Given the description of an element on the screen output the (x, y) to click on. 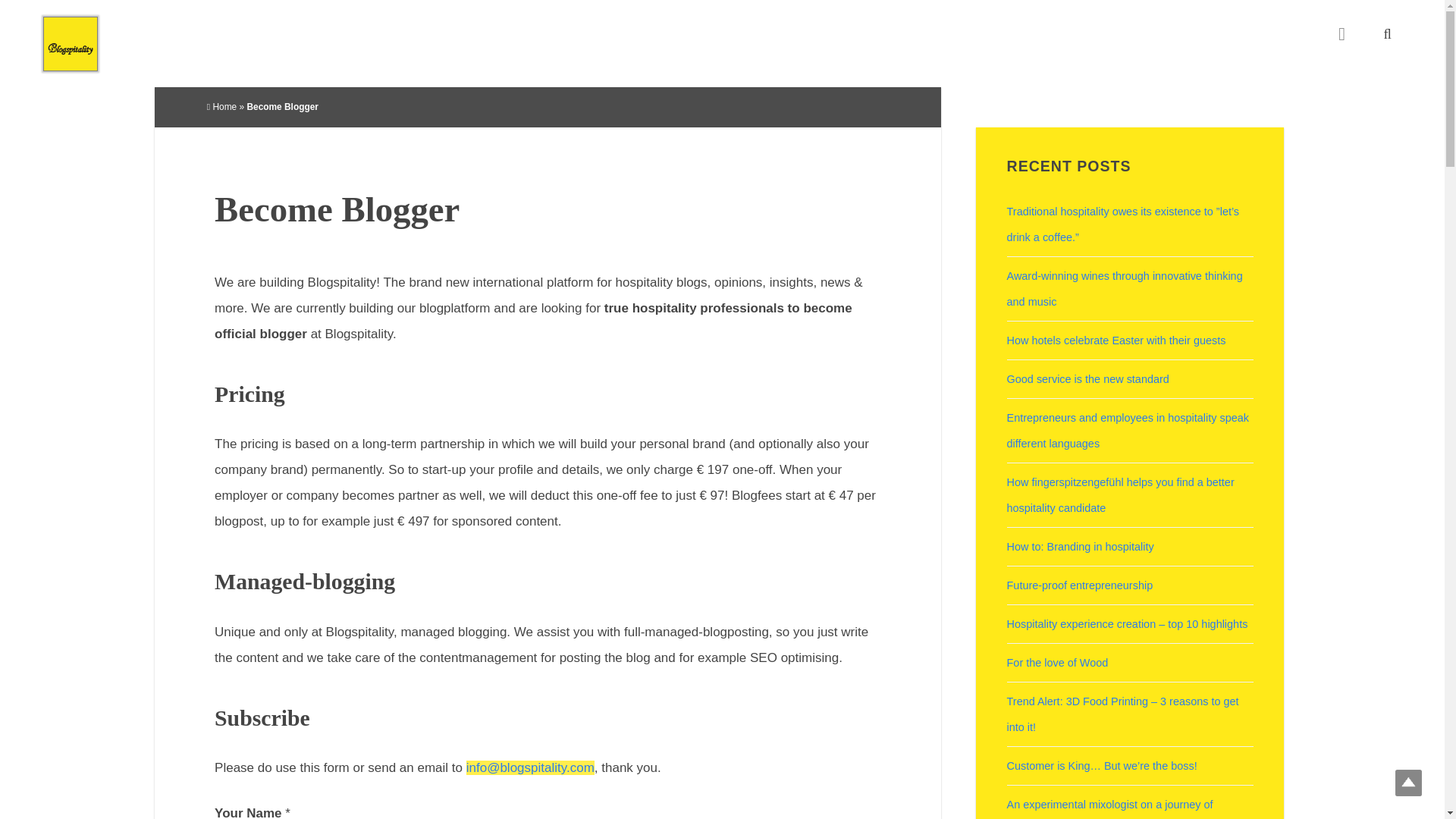
Good service is the new standard (1088, 378)
An experimental mixologist on a journey of flavours (1109, 808)
Scroll to Top (1408, 782)
Award-winning wines through innovative thinking and music (1125, 288)
Home (220, 106)
Future-proof entrepreneurship (1080, 585)
How hotels celebrate Easter with their guests (1116, 340)
How to: Branding in hospitality (1080, 546)
Blogspitality (70, 43)
